Given the description of an element on the screen output the (x, y) to click on. 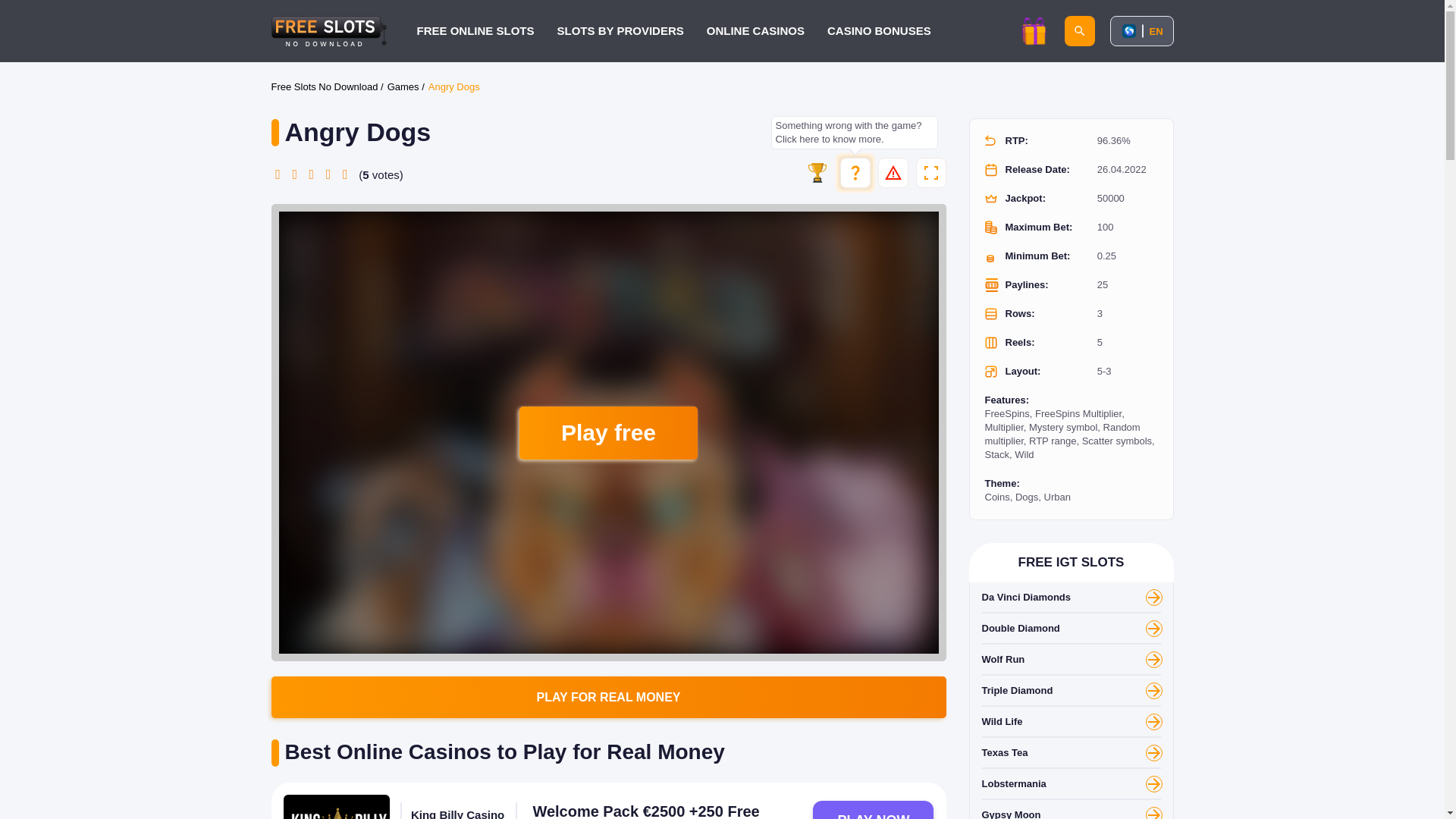
FREE ONLINE SLOTS (475, 30)
Bug Report (892, 173)
Full Screen (930, 173)
